Given the description of an element on the screen output the (x, y) to click on. 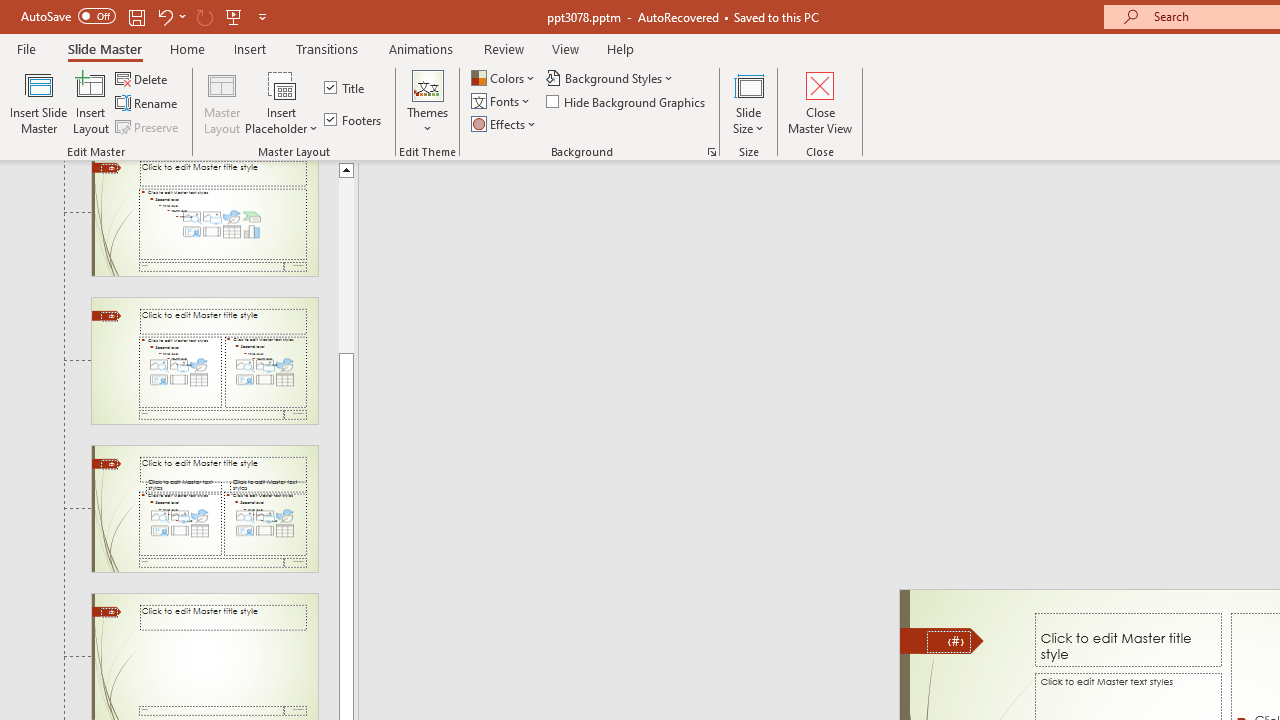
Slide Comparison Layout: used by no slides (204, 508)
Colors (504, 78)
Themes (427, 102)
Freeform 11 (941, 640)
Insert Placeholder (282, 102)
Close Master View (820, 102)
Insert Layout (91, 102)
Insert Slide Master (38, 102)
